Given the description of an element on the screen output the (x, y) to click on. 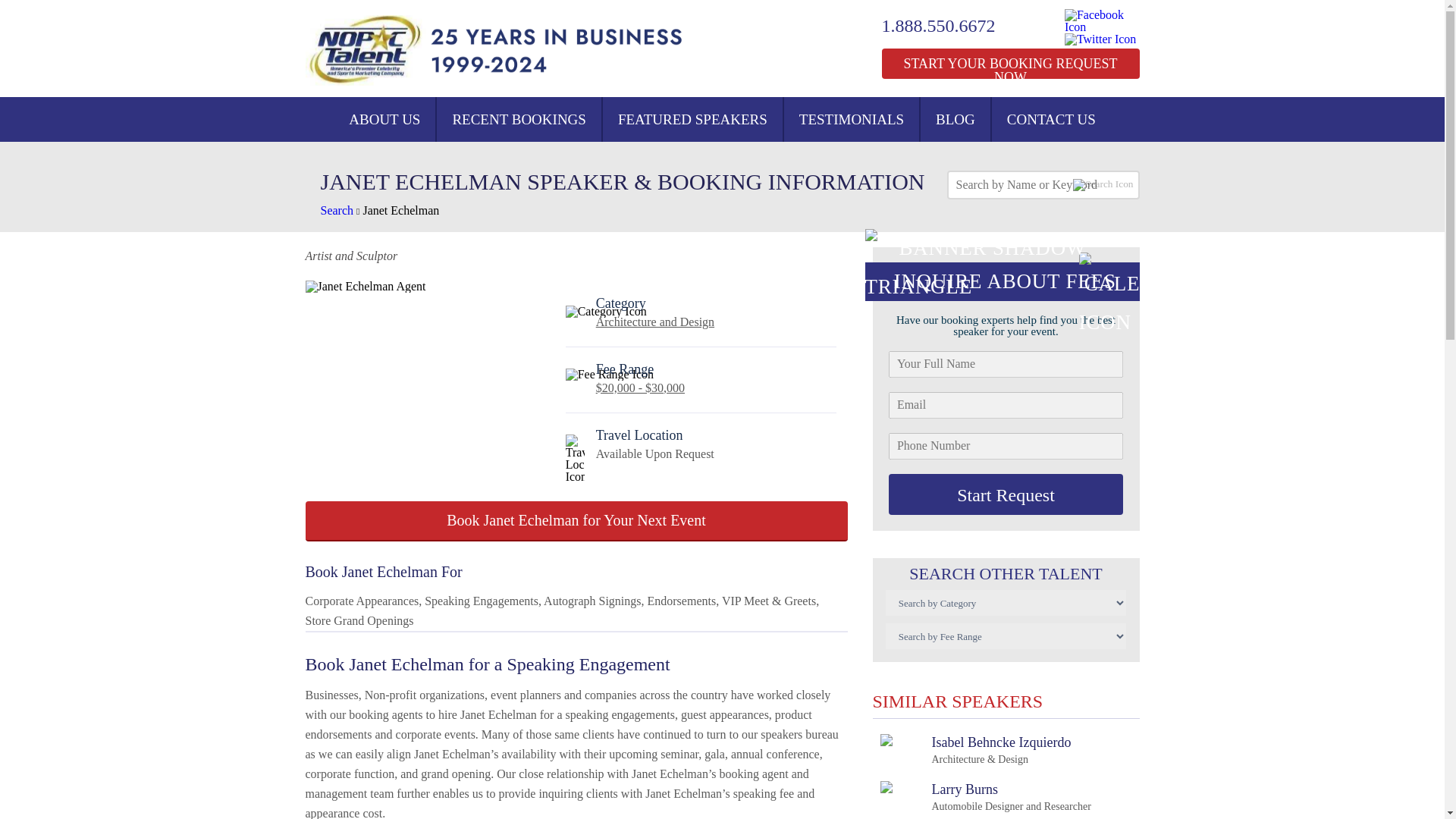
CONTACT US (1050, 119)
BLOG (955, 119)
1.888.550.6672 (947, 25)
RECENT BOOKINGS (517, 119)
FEATURED SPEAKERS (692, 119)
Search (336, 210)
Janet Echelman (984, 797)
ABOUT US (400, 210)
Book Janet Echelman for Your Next Event (384, 119)
